Given the description of an element on the screen output the (x, y) to click on. 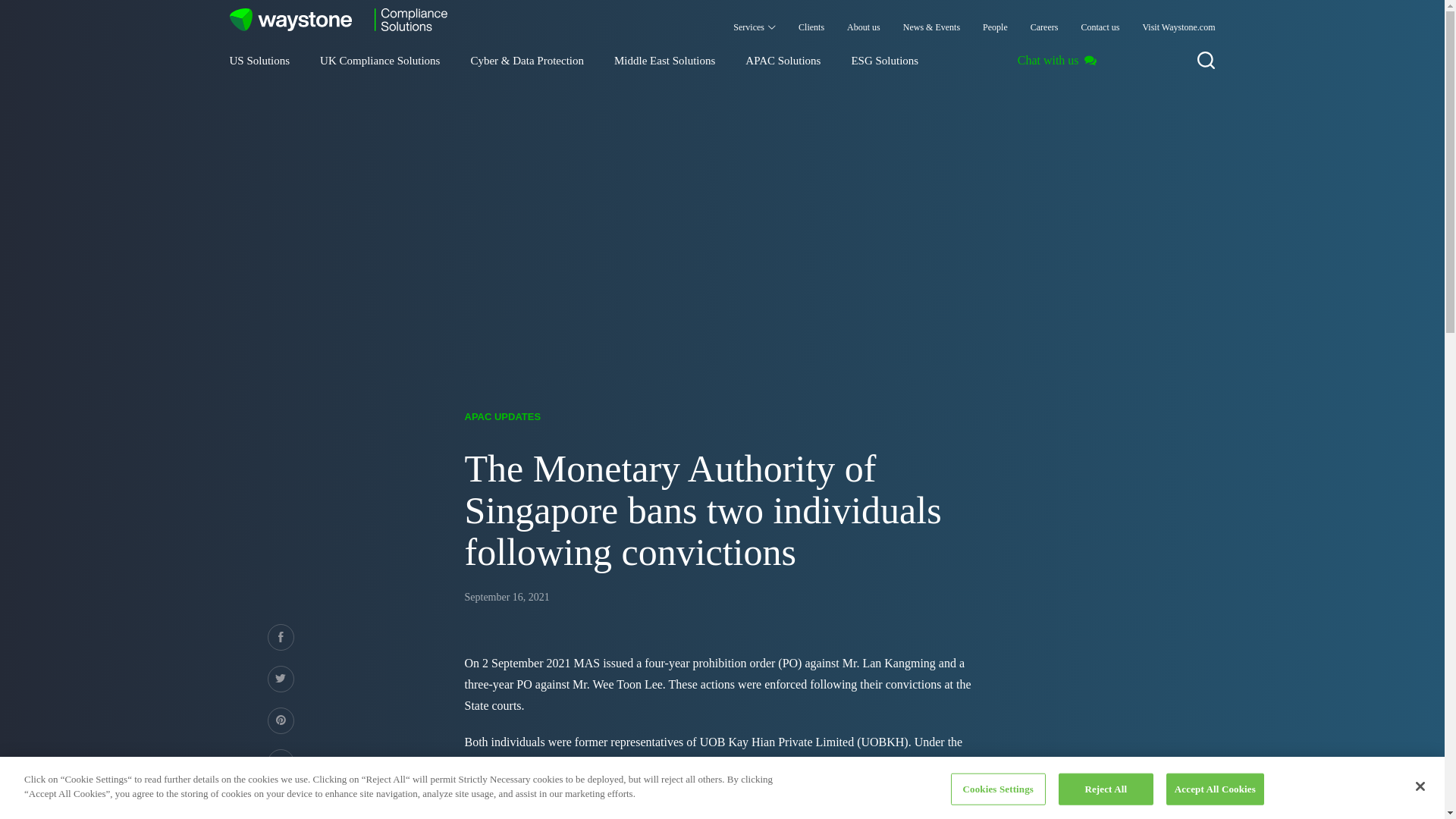
People (995, 19)
US Solutions (259, 68)
About us (863, 19)
ESG Solutions (884, 68)
Middle East Solutions (664, 68)
Clients (811, 19)
UK Compliance Solutions (379, 68)
Visit Waystone.com (1178, 19)
APAC Solutions (782, 68)
Contact us (1099, 19)
Services (754, 20)
Careers (1044, 19)
